Given the description of an element on the screen output the (x, y) to click on. 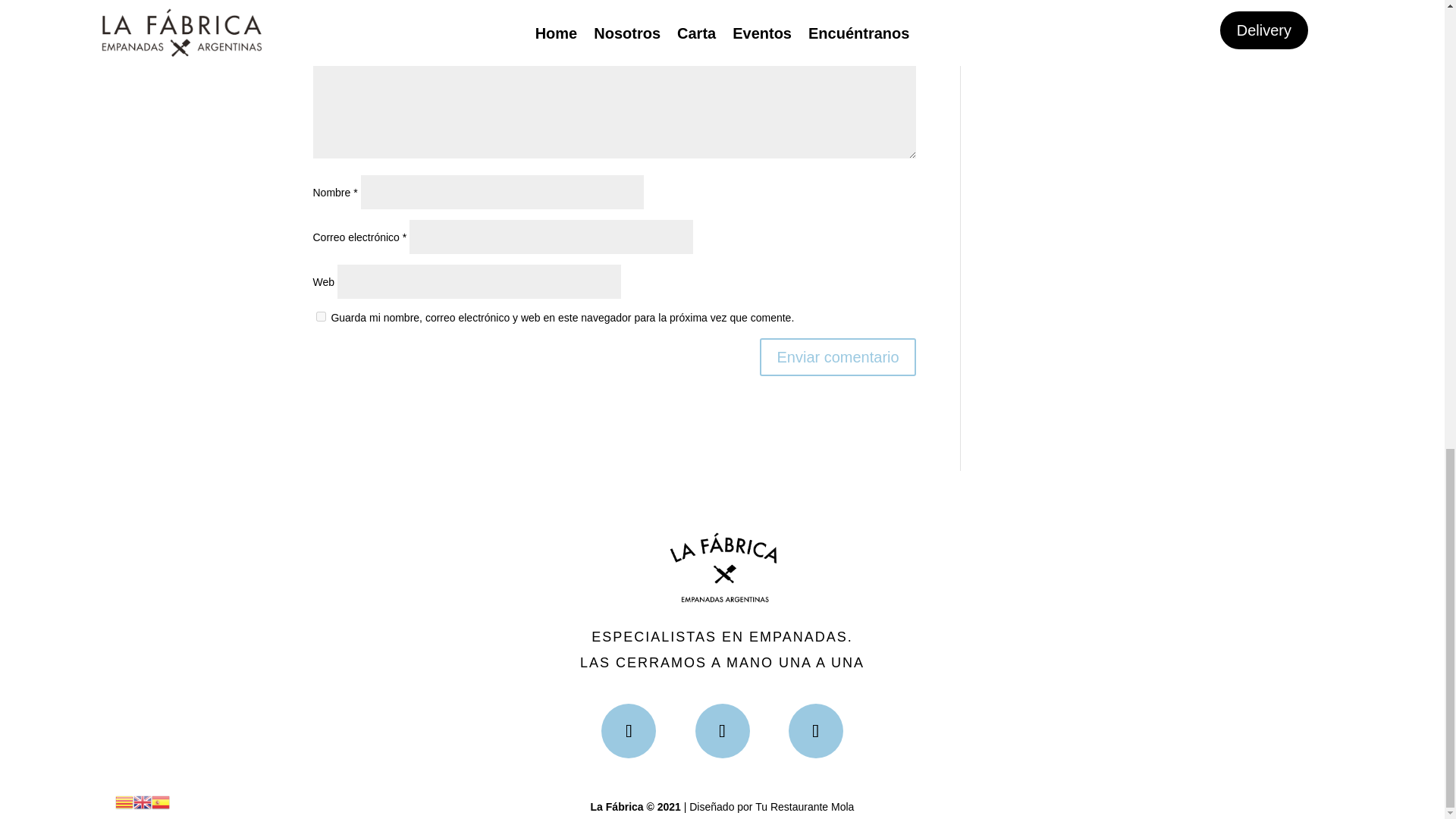
Seguir en Instagram (721, 730)
Tu Restaurante Mola (804, 806)
yes (319, 316)
Seguir en RSS (816, 730)
Enviar comentario (837, 356)
Enviar comentario (837, 356)
Seguir en Facebook (628, 730)
